Given the description of an element on the screen output the (x, y) to click on. 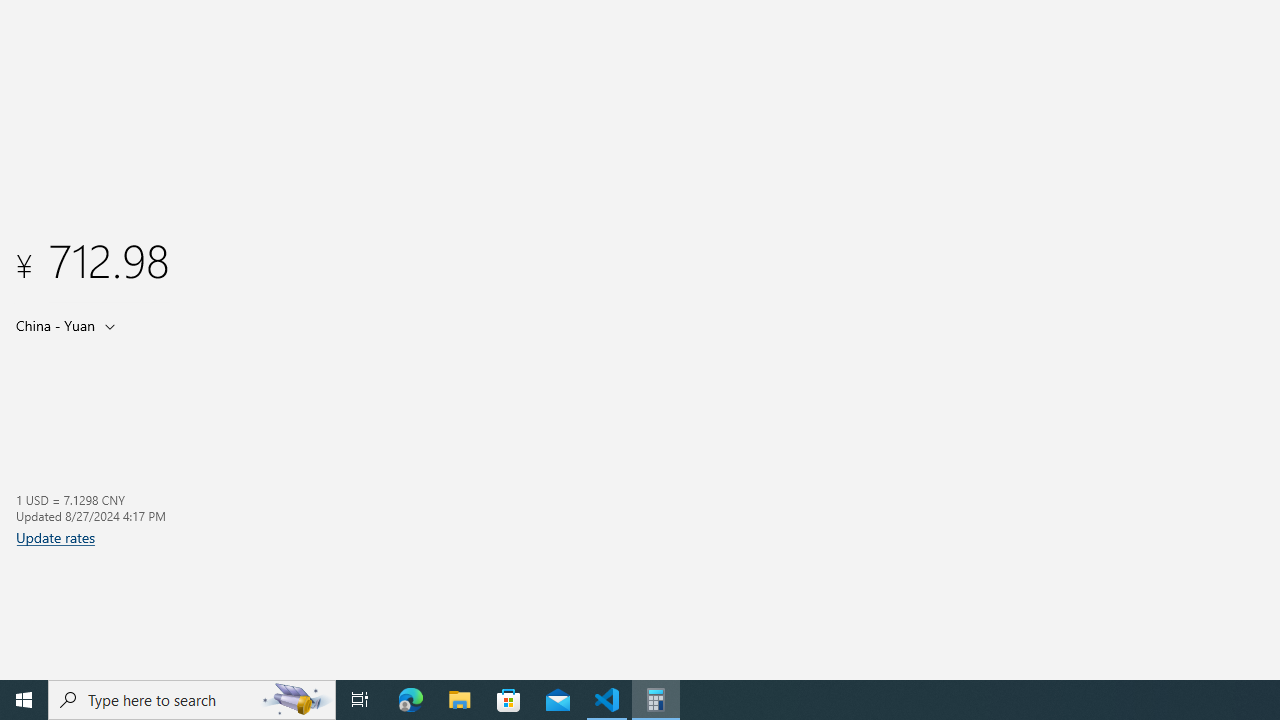
Calculator - 1 running window (656, 699)
China Yuan (53, 325)
Output unit (69, 325)
Update rates (55, 537)
